Given the description of an element on the screen output the (x, y) to click on. 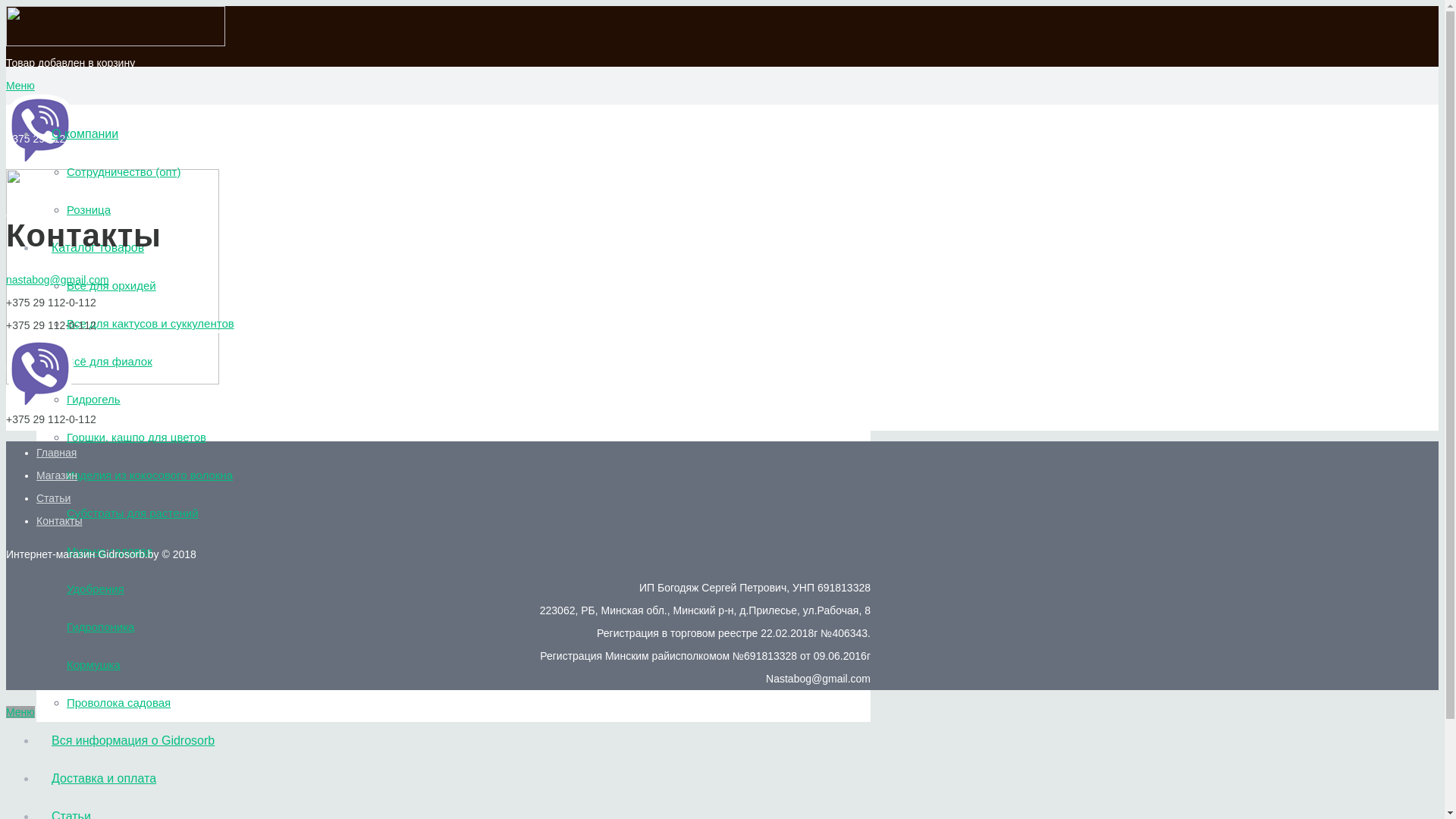
nastabog@gmail.com Element type: text (308, 279)
